Given the description of an element on the screen output the (x, y) to click on. 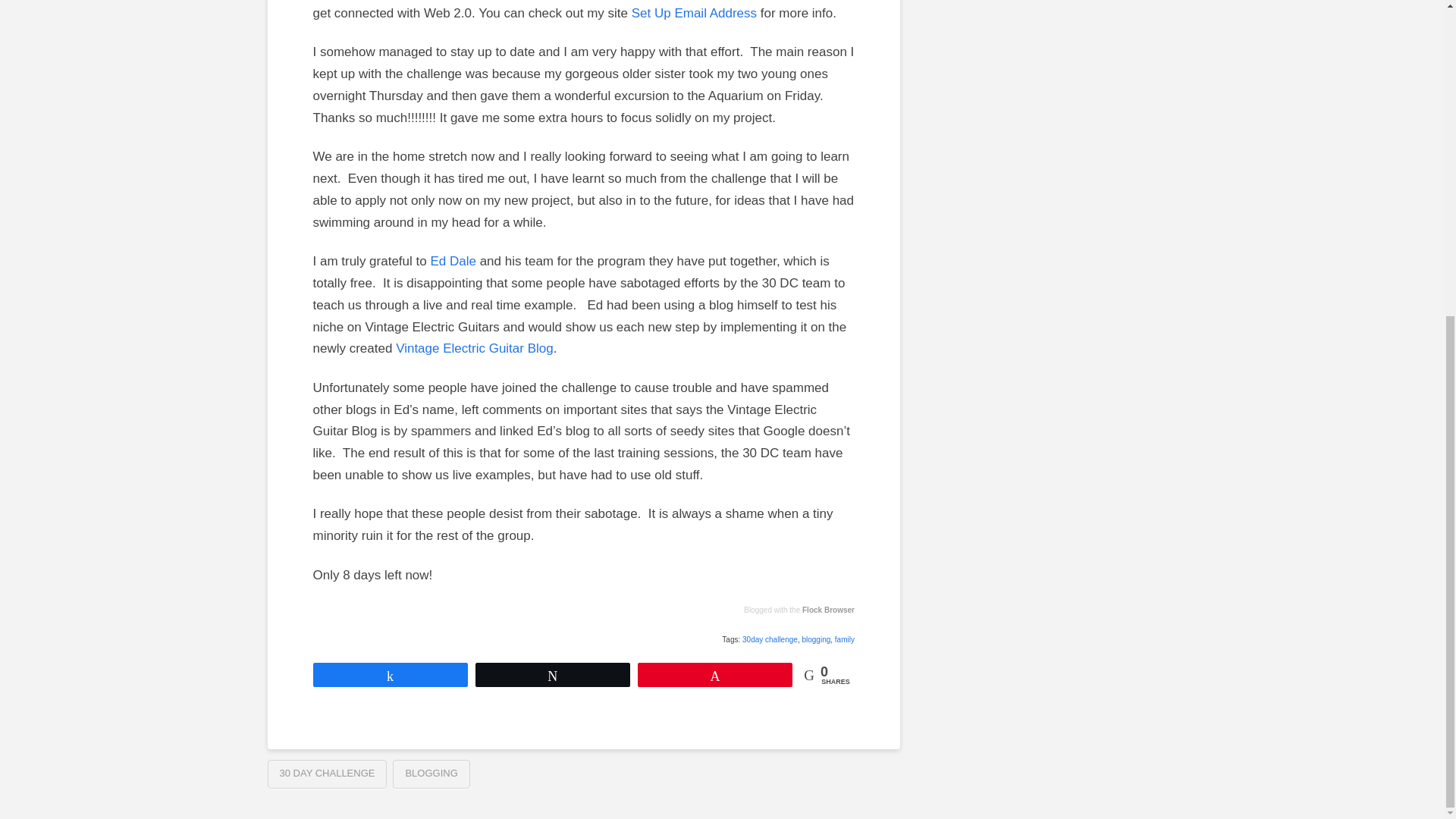
30day challenge (769, 639)
Flock Browser (828, 610)
Set Up Email Address (694, 12)
family (844, 639)
30 DAY CHALLENGE (326, 774)
blogging (815, 639)
Vintage Electric Guitar Blog (474, 348)
Ed Dale (452, 260)
Flock Browser (828, 610)
BLOGGING (430, 774)
